Given the description of an element on the screen output the (x, y) to click on. 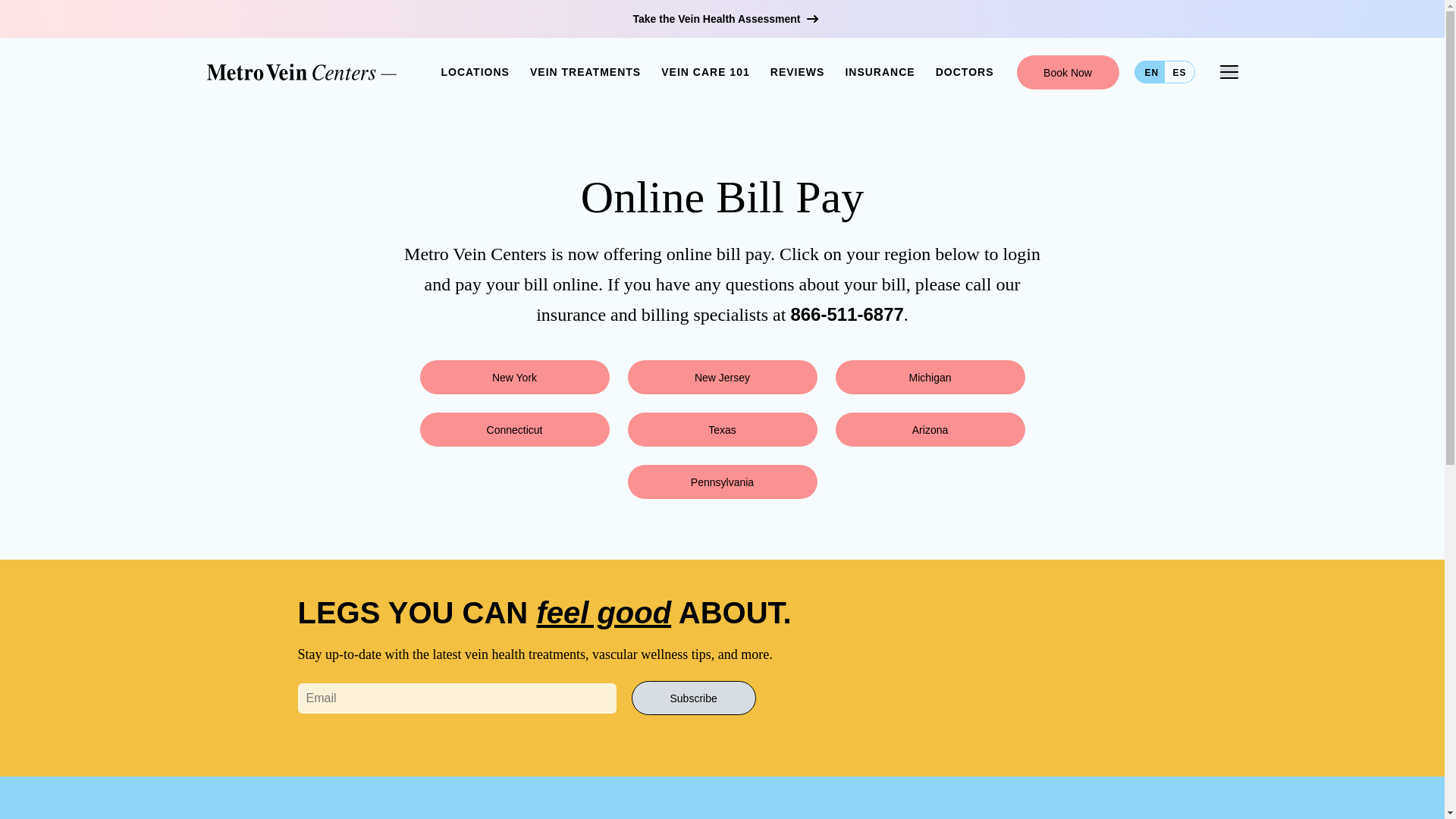
REVIEWS (797, 70)
ES (1179, 71)
LOCATIONS (475, 70)
INSURANCE (879, 70)
Book Now (1067, 71)
Take the Vein Health Assessment (720, 18)
VEIN CARE 101 (705, 70)
VEIN TREATMENTS (584, 70)
EN (1149, 71)
DOCTORS (965, 70)
